Given the description of an element on the screen output the (x, y) to click on. 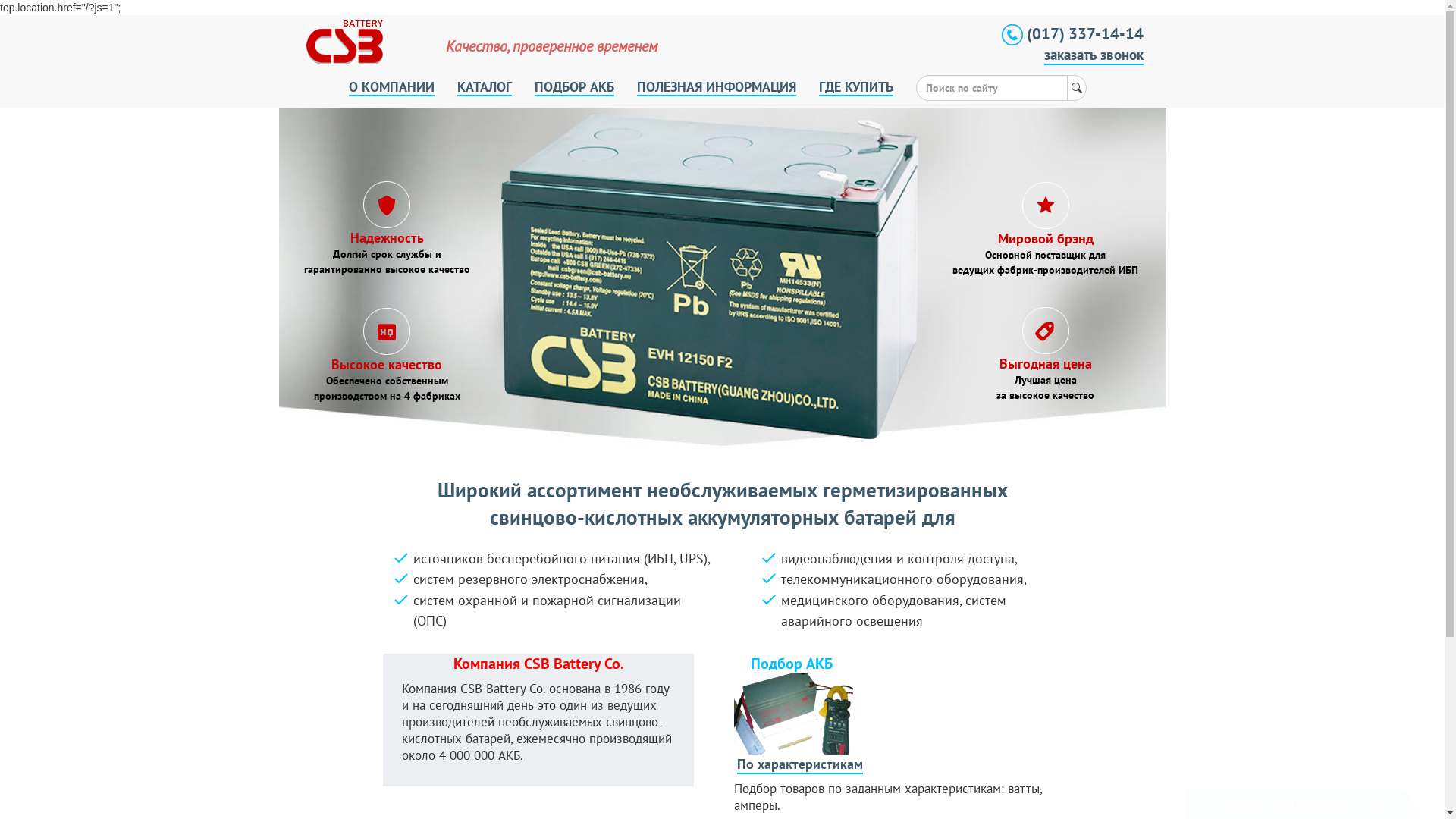
(017) 337-14-14 Element type: text (1071, 32)
